Given the description of an element on the screen output the (x, y) to click on. 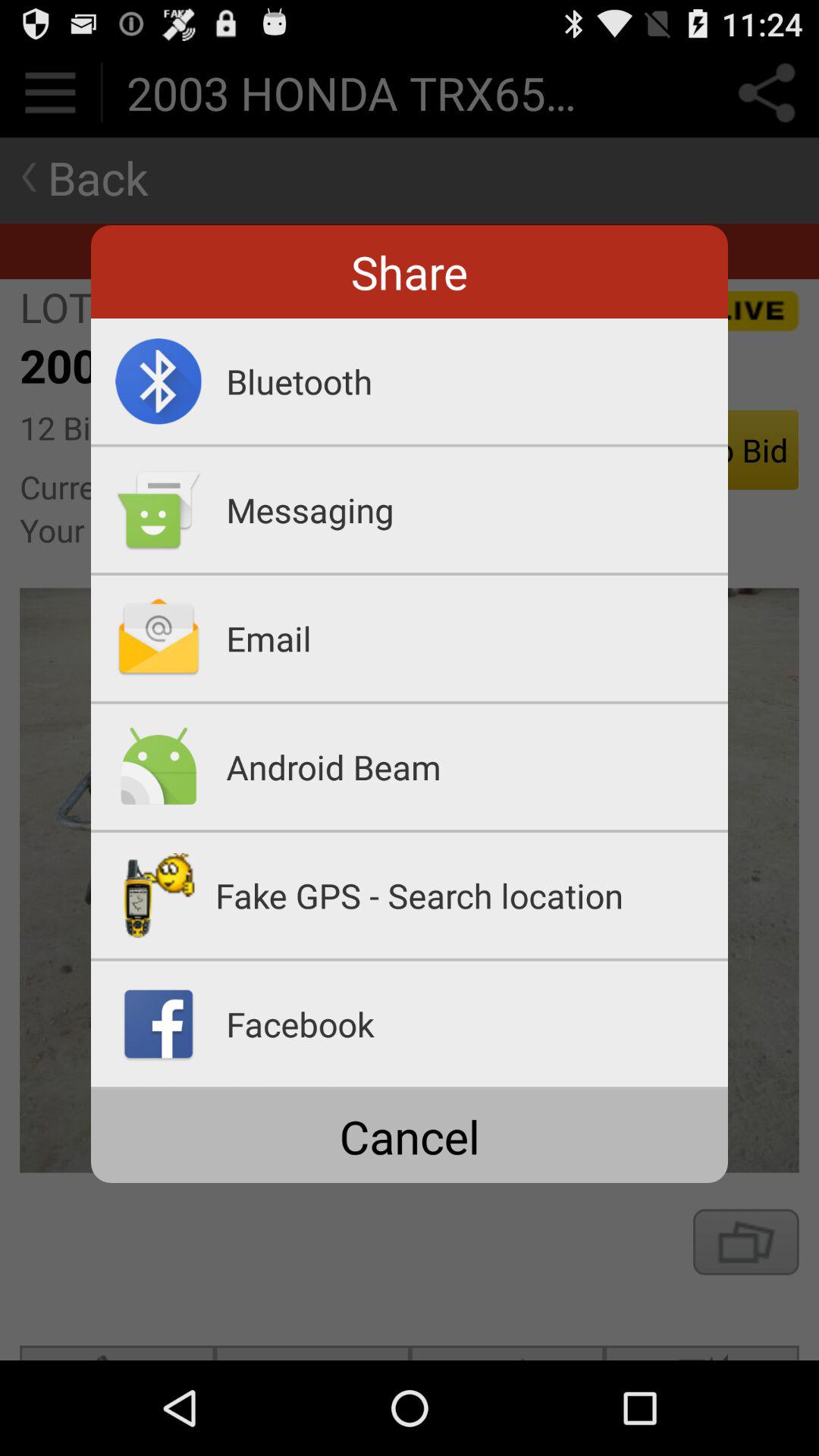
press fake gps search icon (471, 895)
